Given the description of an element on the screen output the (x, y) to click on. 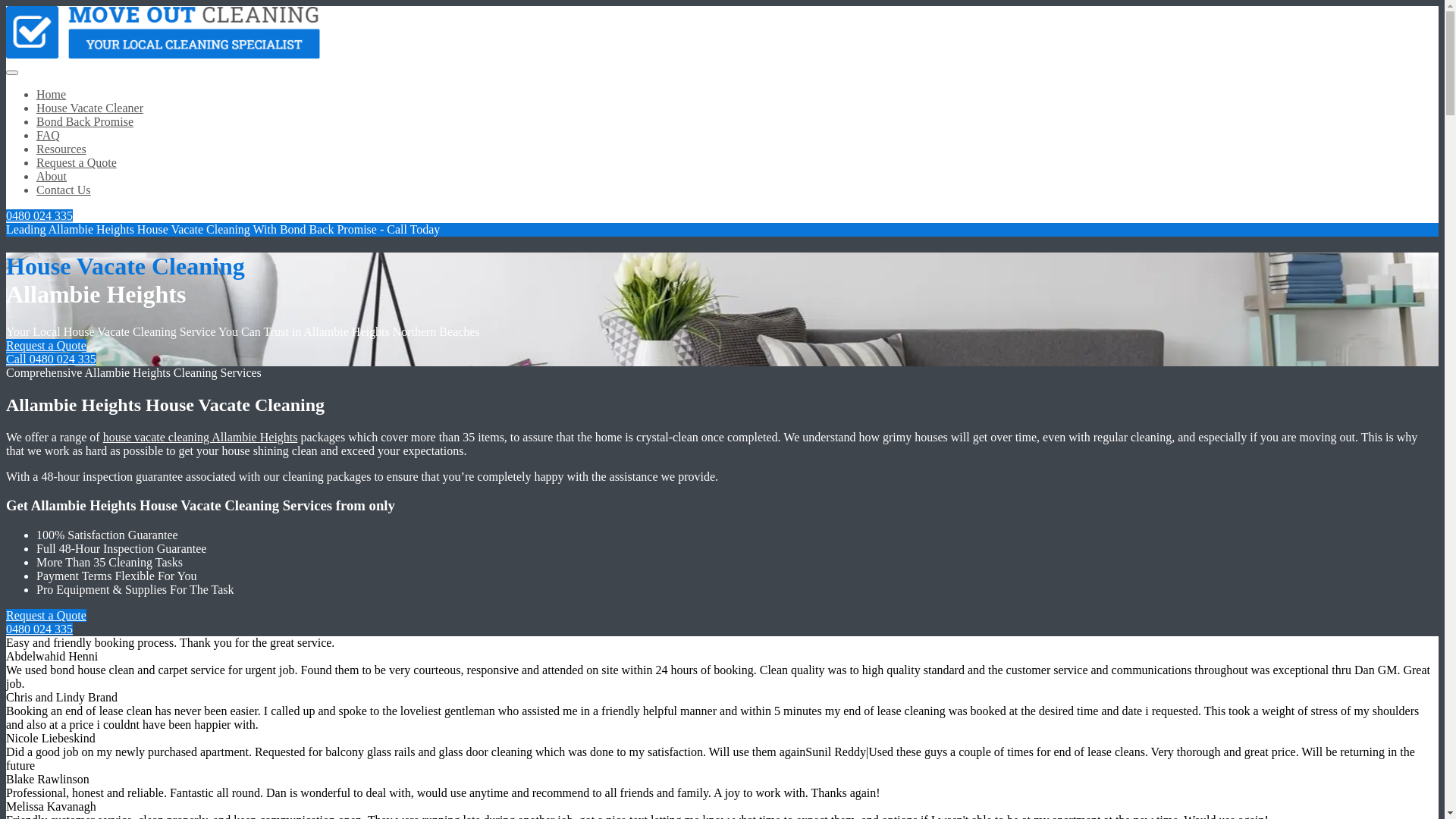
End of Lease Cleaning Element type: hover (163, 54)
FAQ Element type: text (47, 134)
0480 024 335 Element type: text (39, 215)
Resources Element type: text (61, 148)
About Element type: text (51, 175)
Request a Quote Element type: text (46, 344)
Home Element type: text (50, 93)
Request a Quote Element type: text (76, 162)
Contact Us Element type: text (63, 189)
House Vacate Cleaner Element type: text (89, 107)
house vacate cleaning Allambie Heights Element type: text (200, 436)
0480 024 335 Element type: text (39, 628)
Call 0480 024 335 Element type: text (51, 358)
Bond Back Promise Element type: text (84, 121)
Request a Quote Element type: text (46, 614)
